Given the description of an element on the screen output the (x, y) to click on. 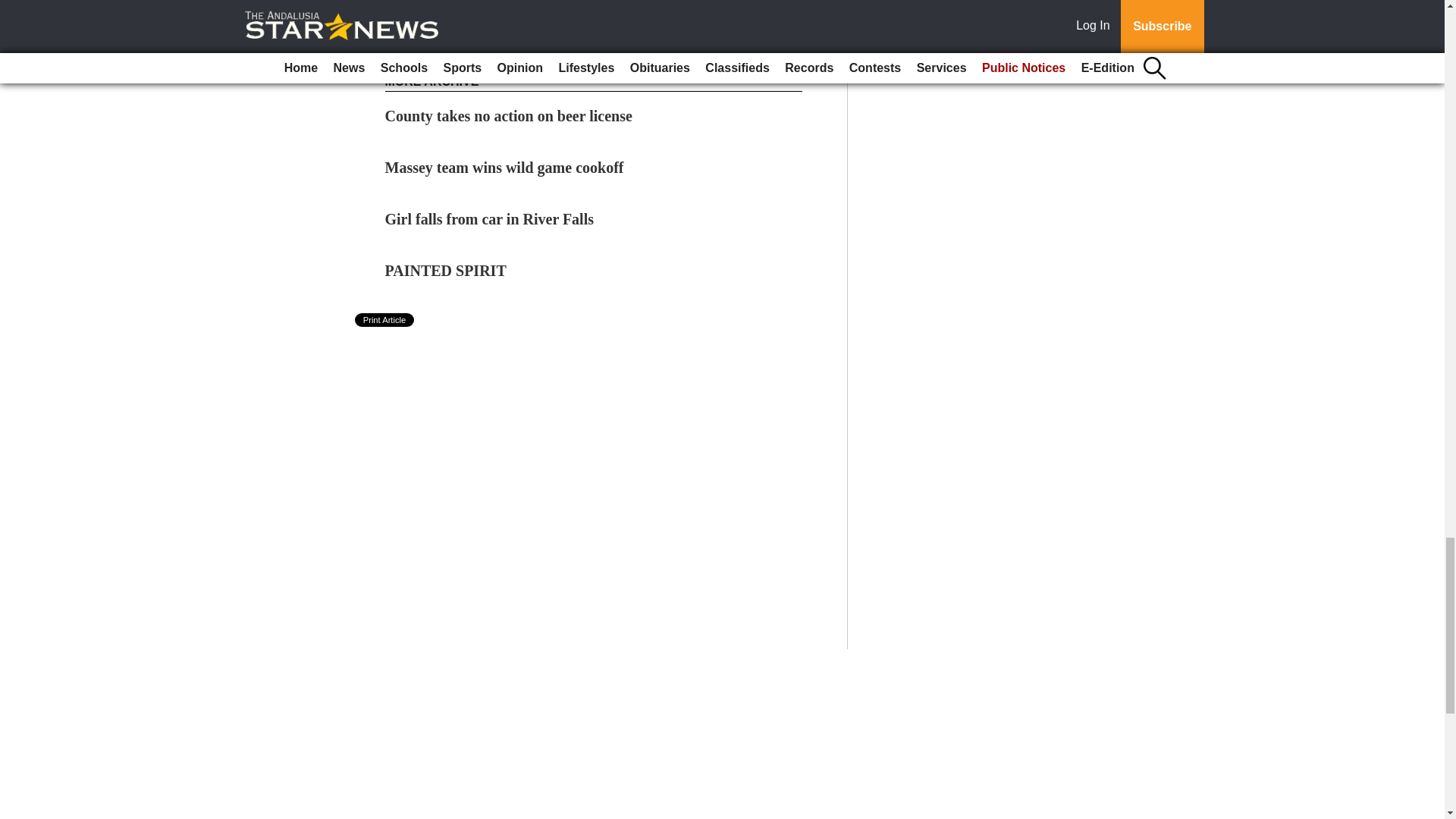
Massey team wins wild game cookoff (504, 167)
Print Article (384, 319)
Girl falls from car in River Falls (489, 218)
Massey team wins wild game cookoff (504, 167)
County takes no action on beer license (508, 115)
Girl falls from car in River Falls (489, 218)
County takes no action on beer license (508, 115)
